Given the description of an element on the screen output the (x, y) to click on. 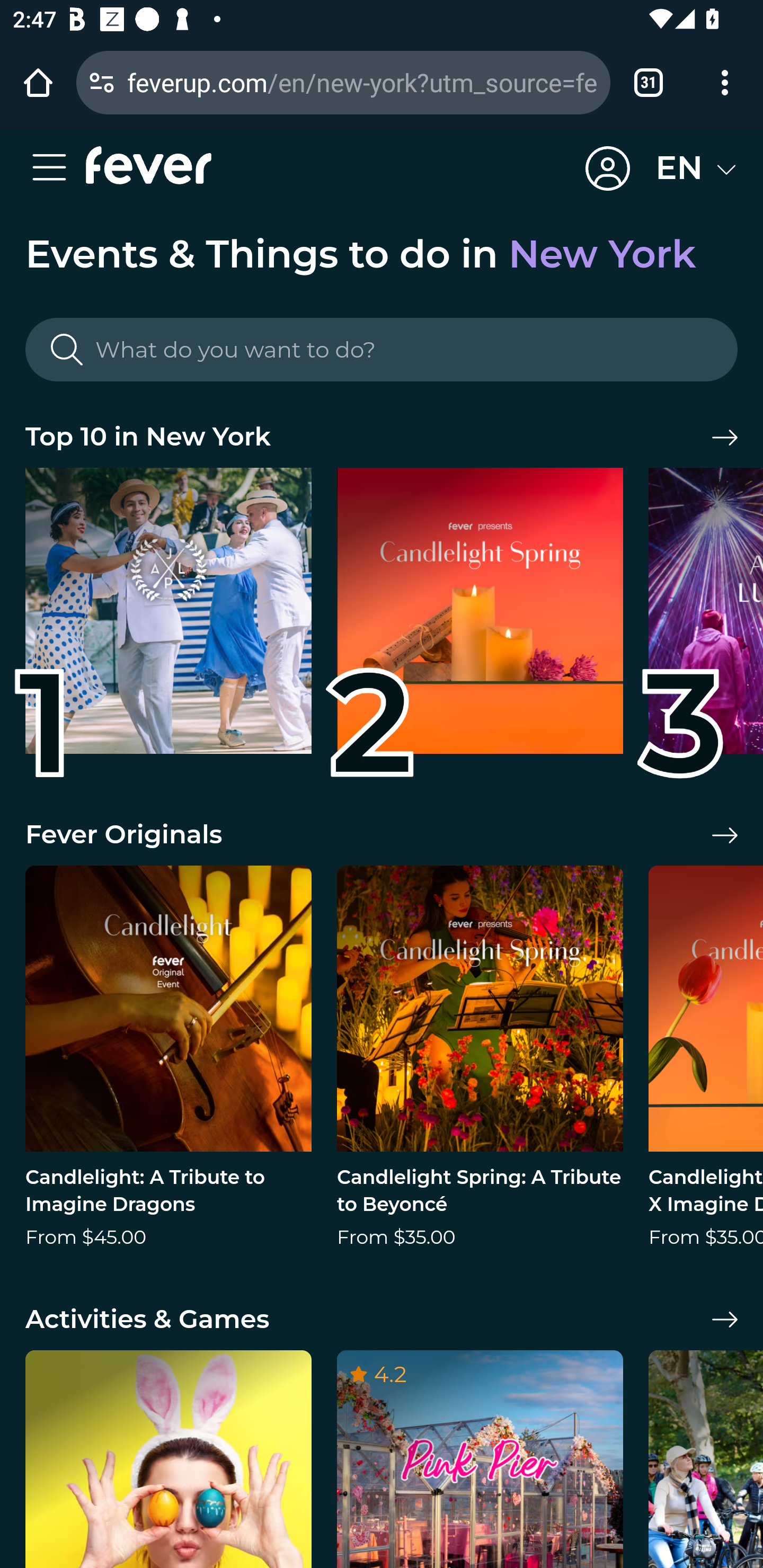
Open the home page (38, 82)
Connection is secure (101, 82)
Switch or close tabs (648, 82)
Customize and control Google Chrome (724, 82)
User account (608, 169)
Fever (148, 165)
Toggle navigation (55, 168)
EN (695, 168)
What do you want to do? (381, 349)
The 19th Annual Jazz Age Lawn Party - Waitlist (168, 617)
Candlelight Spring: A Tribute to Adele (480, 617)
Fever Originals Fever Originals Fever Originals (381, 834)
